Given the description of an element on the screen output the (x, y) to click on. 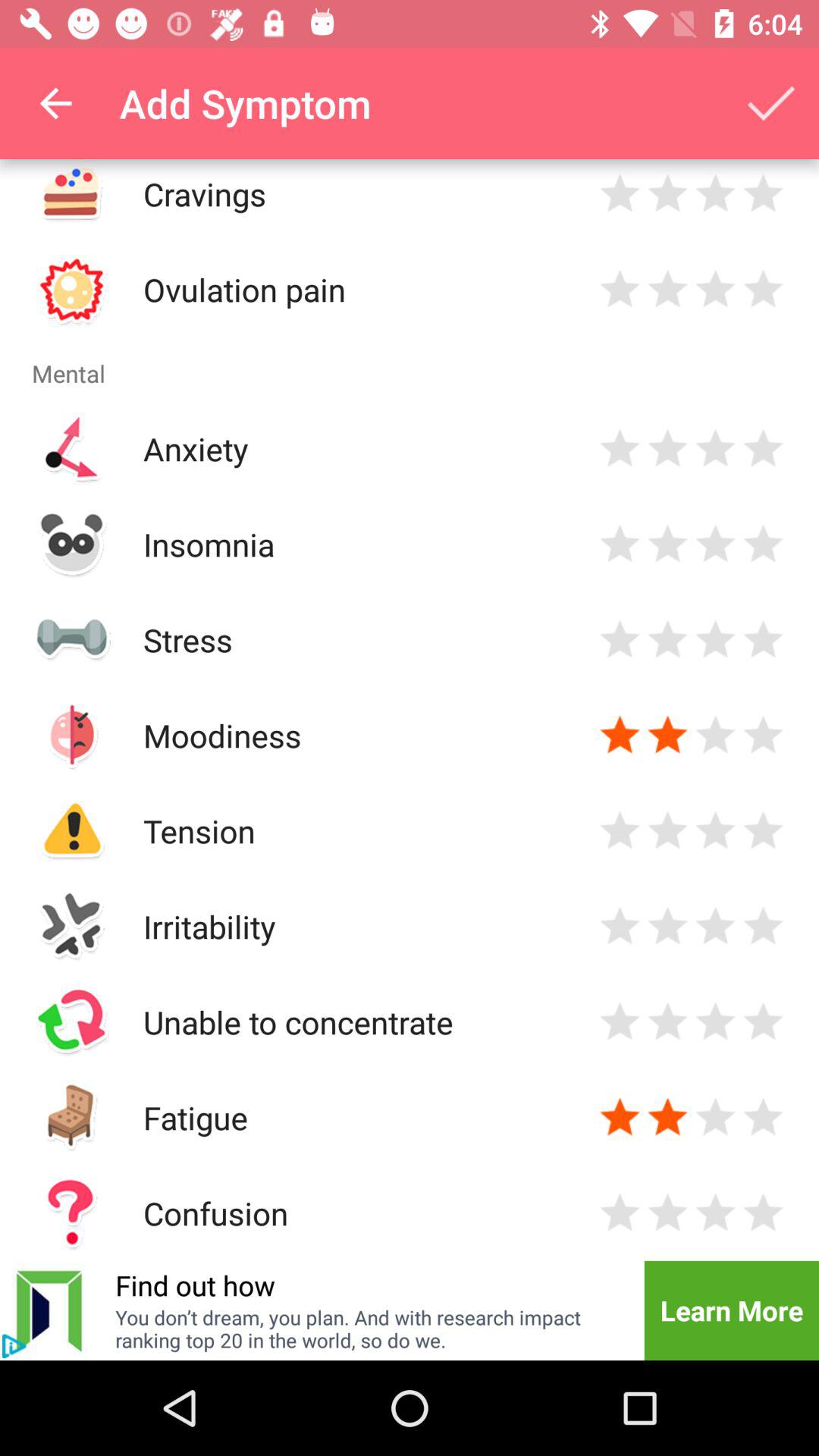
rates stress level at three stars (715, 639)
